Given the description of an element on the screen output the (x, y) to click on. 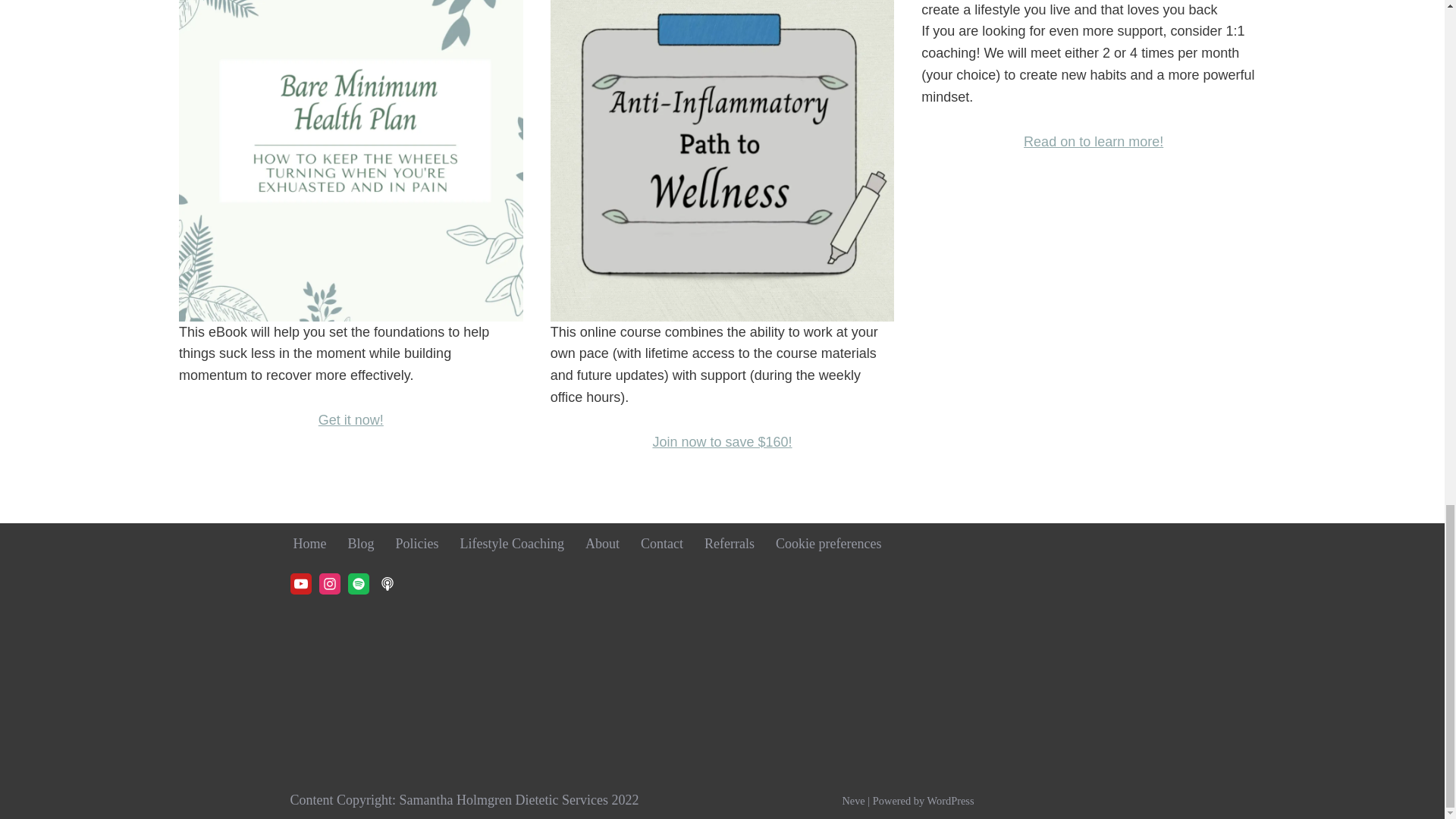
Apple Podcasts (386, 583)
Spotify (357, 583)
Instagram (328, 583)
Youtube (300, 583)
